Given the description of an element on the screen output the (x, y) to click on. 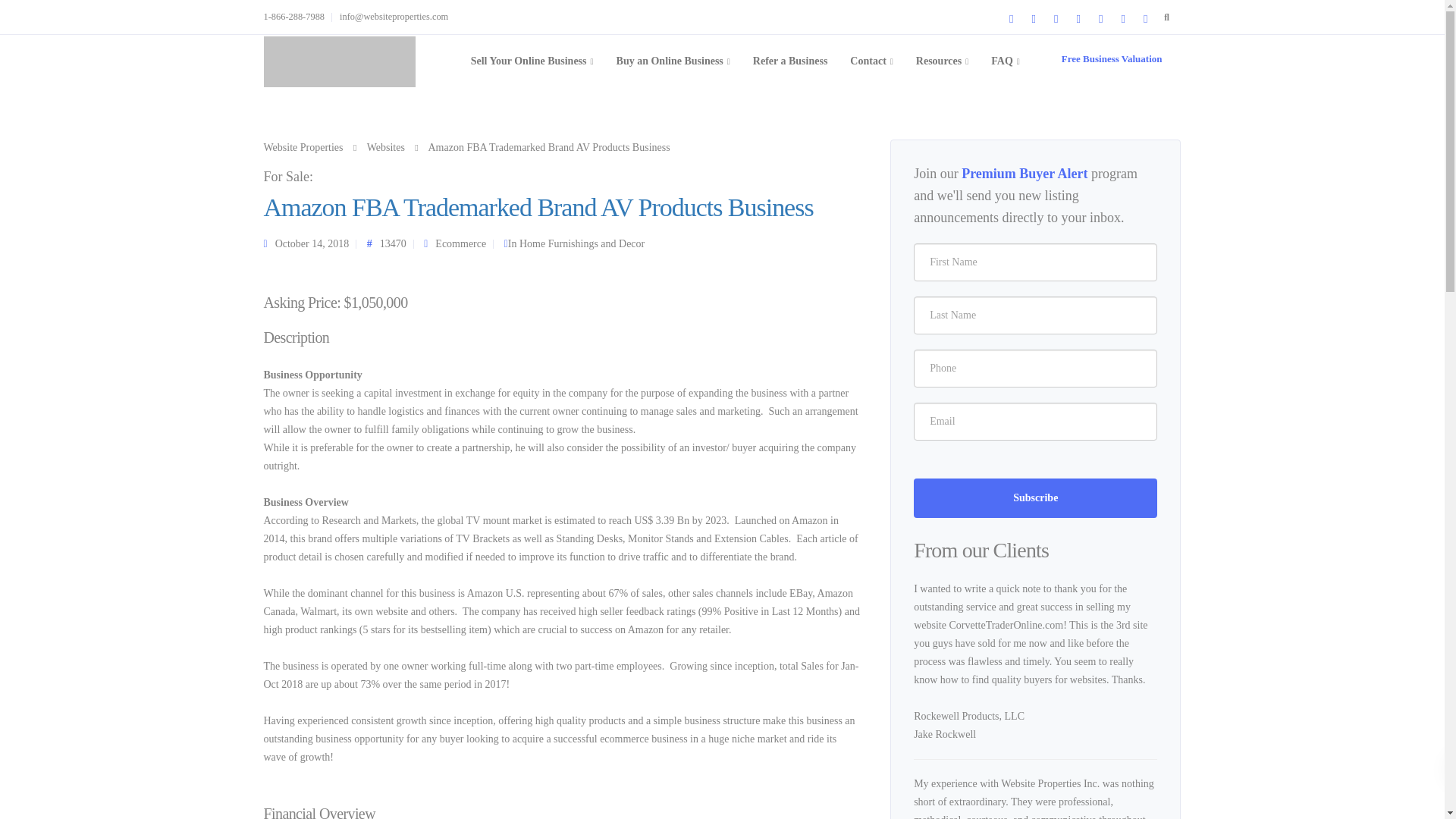
Websites (385, 147)
Contact (871, 60)
Sell Your Online Business (532, 60)
Website Properties (303, 147)
Refer a Business (790, 60)
Buy an Online Business (673, 60)
Buy an Online Business (673, 60)
Resources (941, 60)
FAQ (1004, 60)
Free Business Valuation (1111, 58)
Who, what and where is Website Properties.com (871, 60)
1-866-288-7988 (298, 16)
Sell Your Online Business (532, 60)
Refer a Business (790, 60)
